Given the description of an element on the screen output the (x, y) to click on. 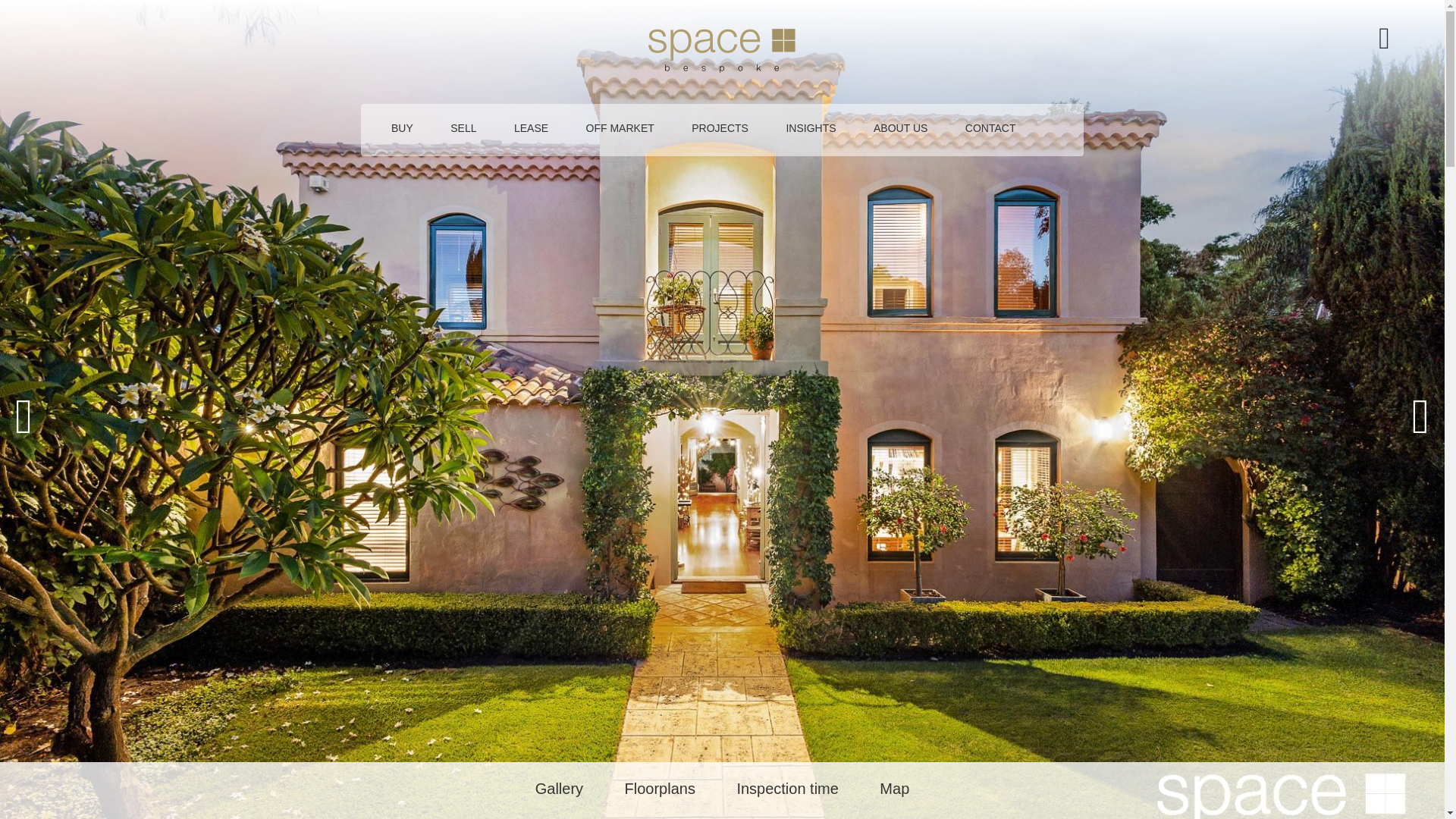
Space Real Estate (721, 51)
LEASE (530, 135)
SELL (462, 135)
OFF MARKET (619, 135)
PROJECTS (719, 135)
Inspection time (787, 788)
